Given the description of an element on the screen output the (x, y) to click on. 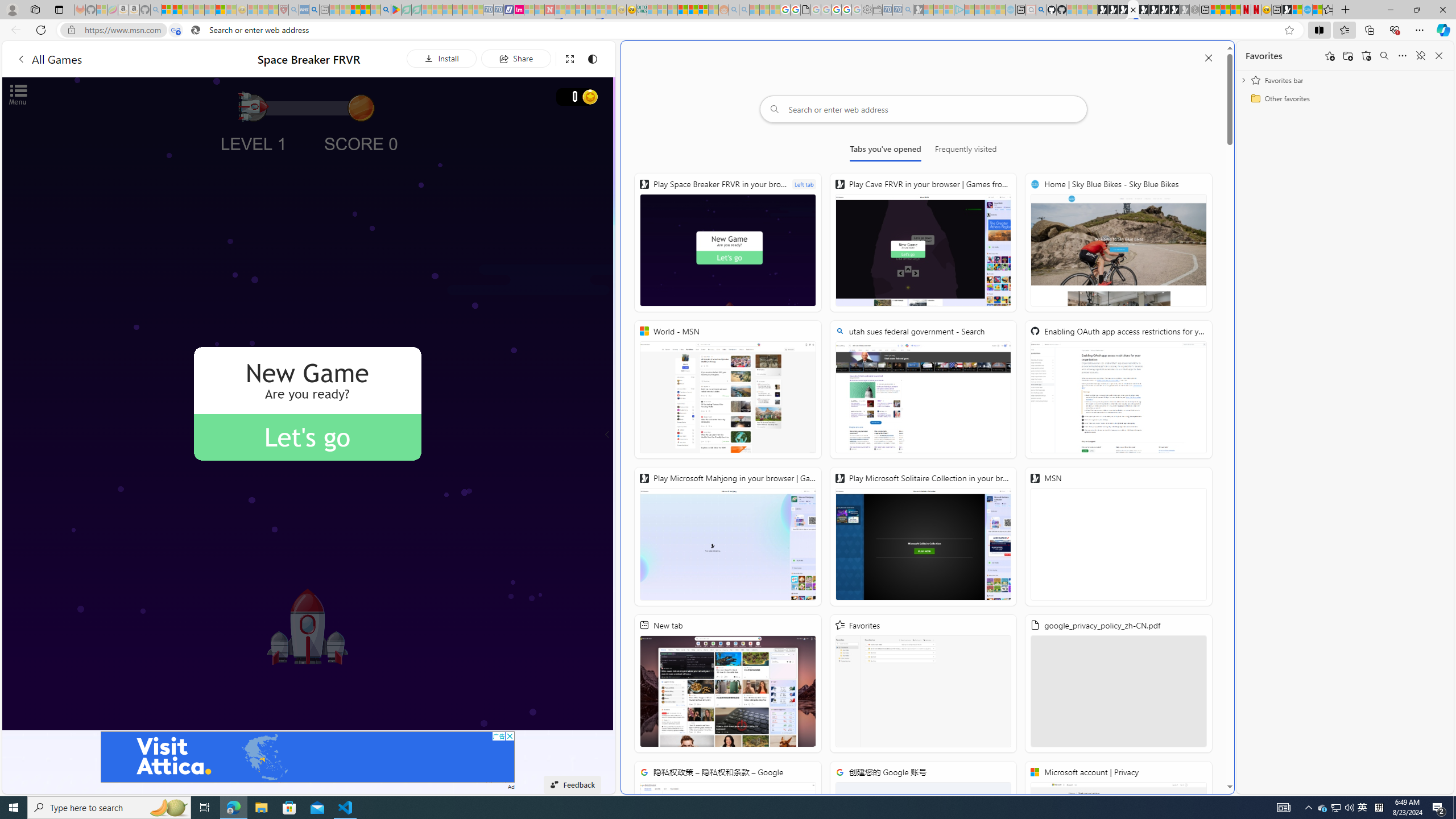
AutomationID: gameCanvas (307, 403)
AutomationID: cbb (509, 736)
Full screen (569, 58)
World - MSN (1297, 9)
Restore deleted favorites (1366, 55)
google_privacy_policy_zh-CN.pdf (804, 9)
